Given the description of an element on the screen output the (x, y) to click on. 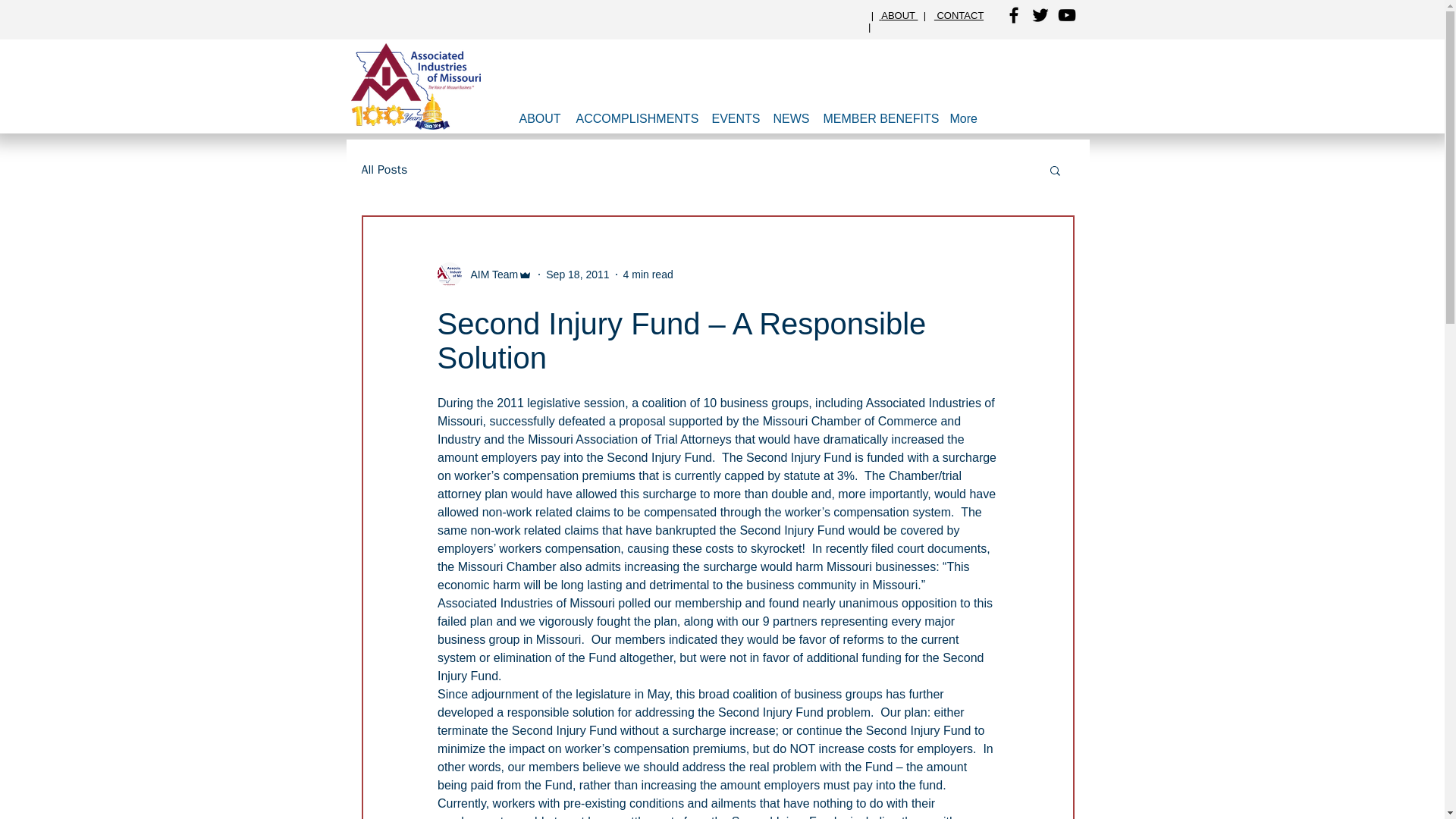
4 min read (647, 274)
ABOUT (898, 15)
NEWS (790, 118)
Sep 18, 2011 (577, 274)
EVENTS (734, 118)
ACCOMPLISHMENTS (636, 118)
 CONTACT (959, 15)
All Posts (384, 170)
AIM Team (489, 274)
ABOUT (539, 118)
